Given the description of an element on the screen output the (x, y) to click on. 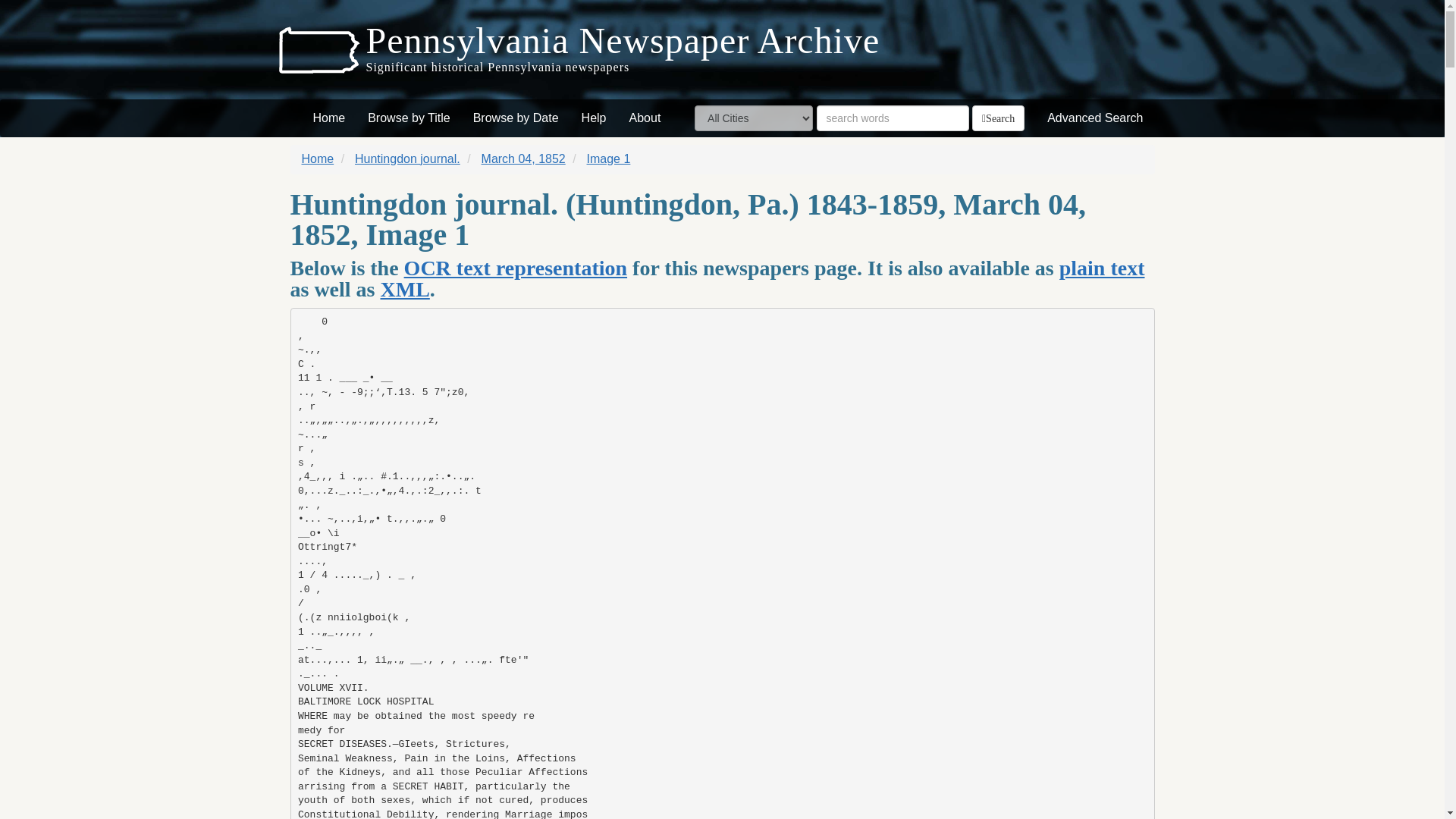
Huntingdon journal. (407, 158)
Home (328, 118)
March 04, 1852 (523, 158)
Advanced Search (1094, 118)
About (644, 118)
Image 1 (608, 158)
Search (998, 118)
Browse by Date (515, 118)
Help (593, 118)
Home (317, 158)
